Given the description of an element on the screen output the (x, y) to click on. 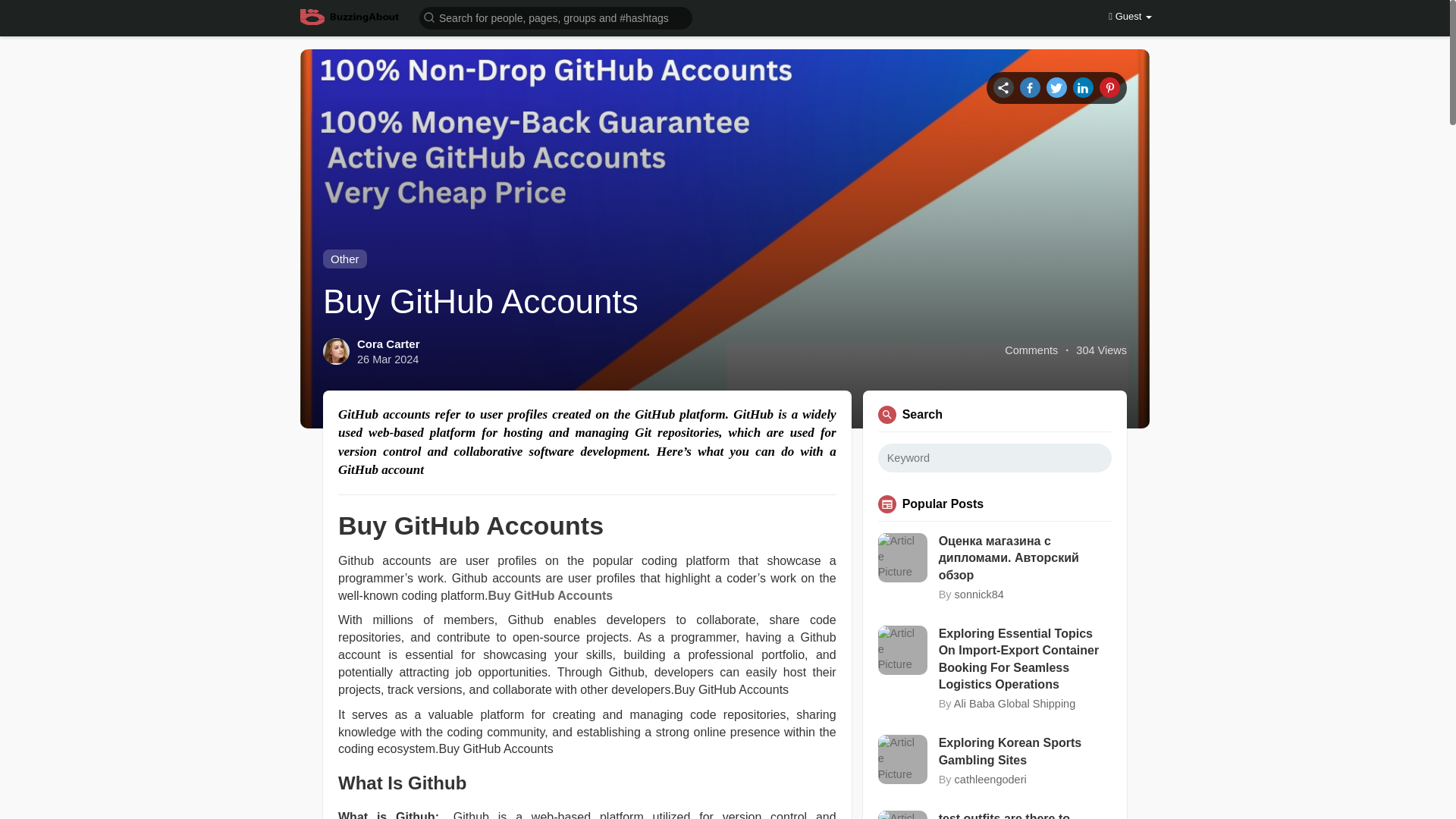
Cora Carter (388, 343)
Facebook (1029, 86)
Exploring Korean Sports Gambling Sites (1025, 751)
Pinterest (1109, 86)
Ali Baba Global Shipping (1014, 703)
sonnick84 (979, 594)
Guest (1129, 17)
Other (344, 258)
Buy GitHub Accounts (549, 594)
test outfits are there to precipitate you (1025, 814)
Timeline (1002, 86)
cathleengoderi (990, 779)
Linkedin (1082, 86)
Twitter (1056, 86)
